Given the description of an element on the screen output the (x, y) to click on. 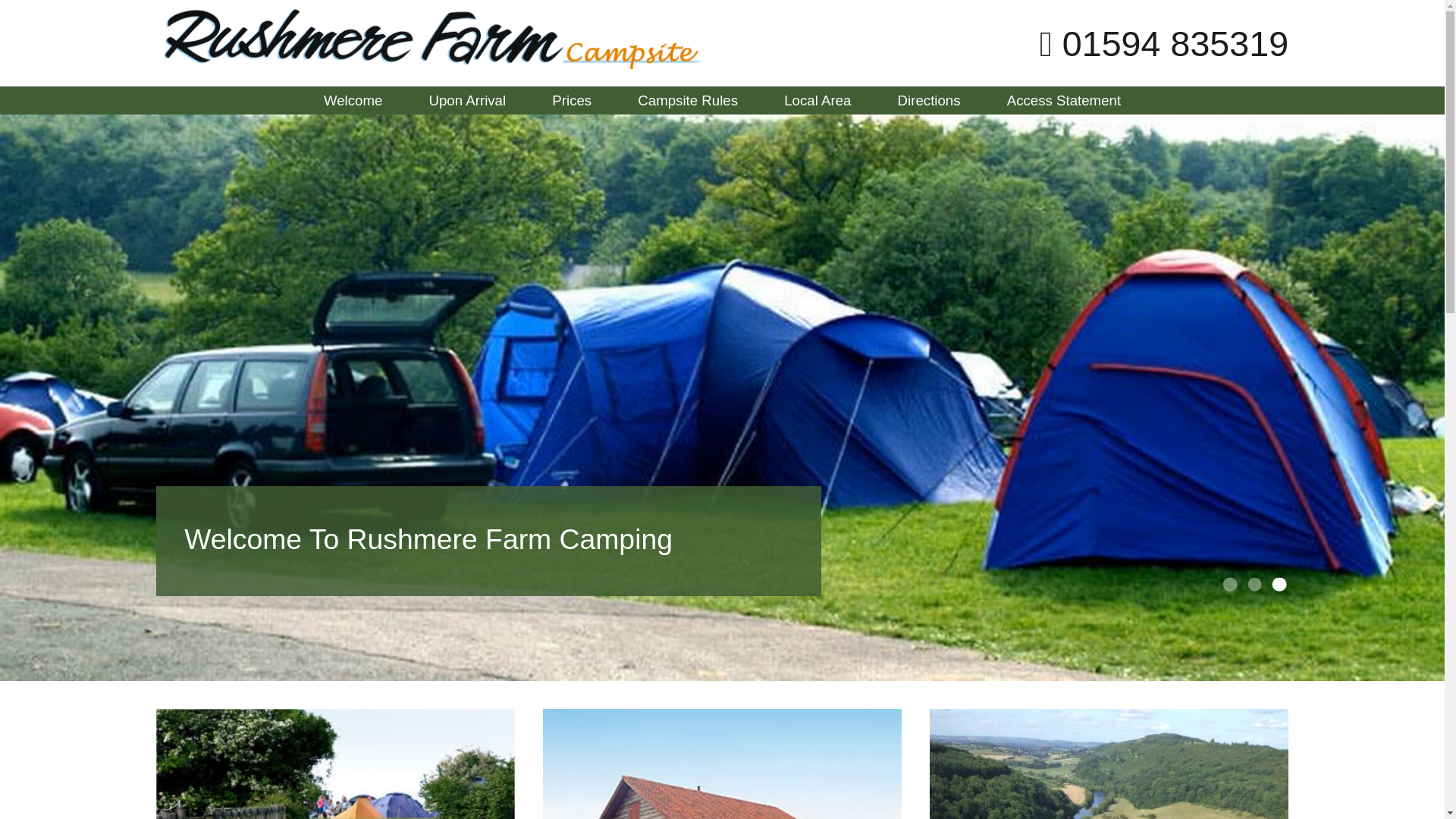
Welcome To Rushmere Farm Camping (488, 541)
Upon Arrival (467, 100)
Campsite Rules (687, 100)
Prices (571, 100)
Directions (929, 100)
Welcome (352, 100)
Access Statement (1064, 100)
Local Area (817, 100)
